Given the description of an element on the screen output the (x, y) to click on. 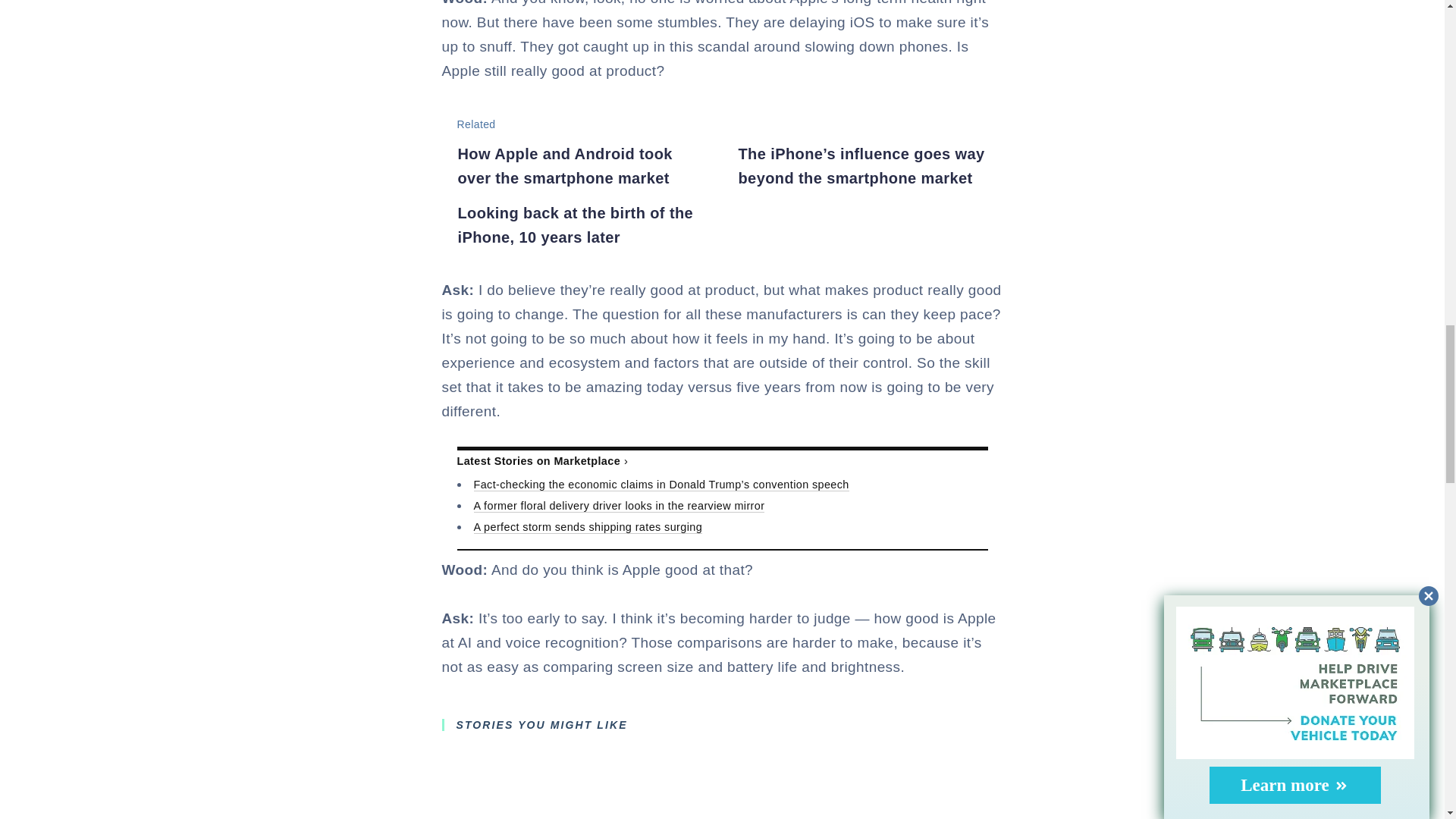
Is Apple late to embrace AI or right on time? (721, 817)
What might help Apple sell more iPhones? Cheaper iPhones (536, 817)
